Given the description of an element on the screen output the (x, y) to click on. 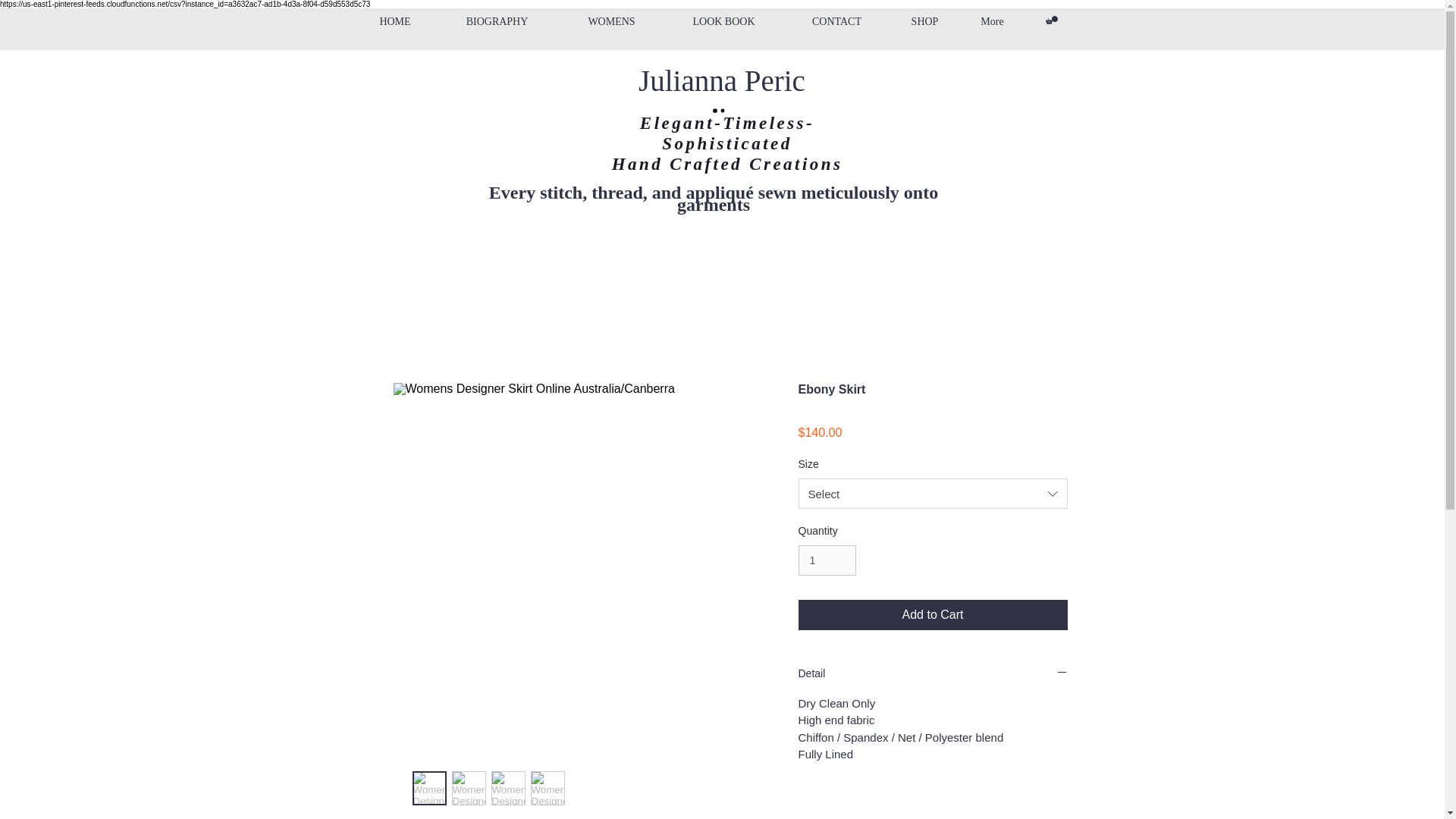
Detail (932, 674)
BIOGRAPHY (496, 21)
SHOP (924, 21)
Add to Cart (932, 614)
CONTACT (837, 21)
1 (826, 560)
Julianna Peric (722, 80)
LOOK BOOK (724, 21)
HOME (394, 21)
WOMENS (611, 21)
Select (932, 493)
Elegant-Timeless-Sophisticated (726, 133)
